Given the description of an element on the screen output the (x, y) to click on. 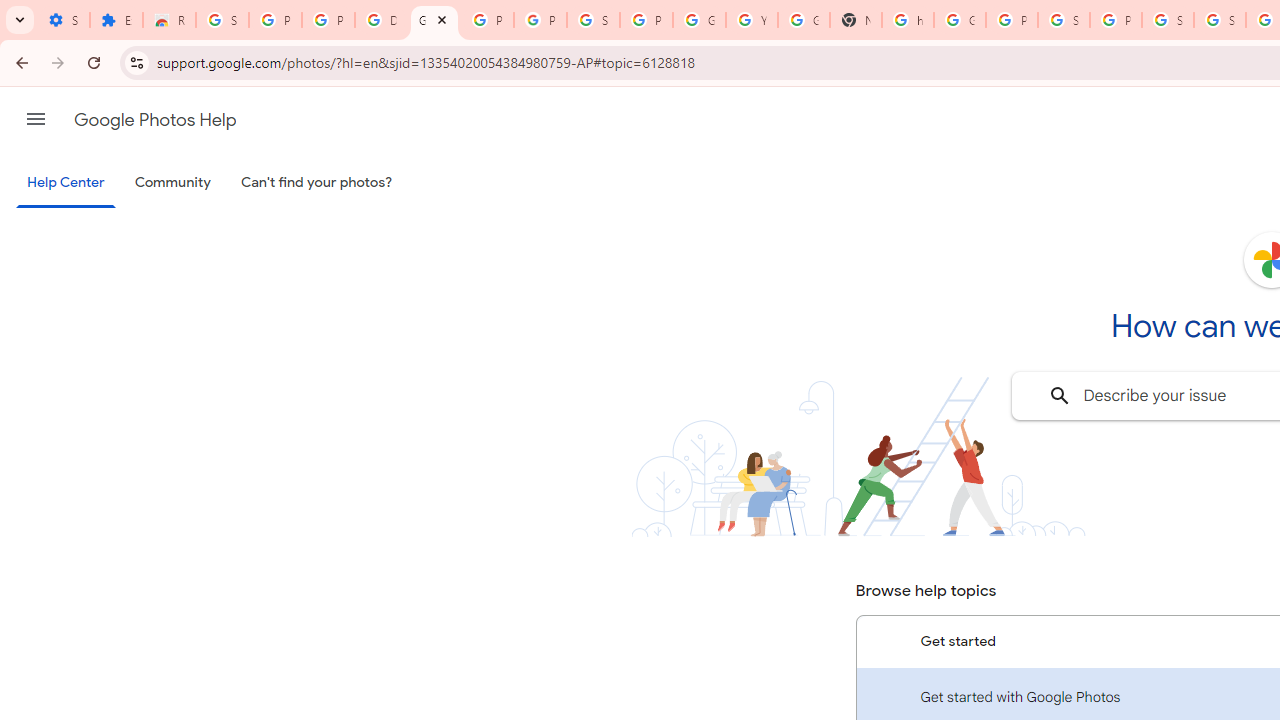
Google Photos Help (155, 119)
Reviews: Helix Fruit Jump Arcade Game (169, 20)
Sign in - Google Accounts (1167, 20)
